Given the description of an element on the screen output the (x, y) to click on. 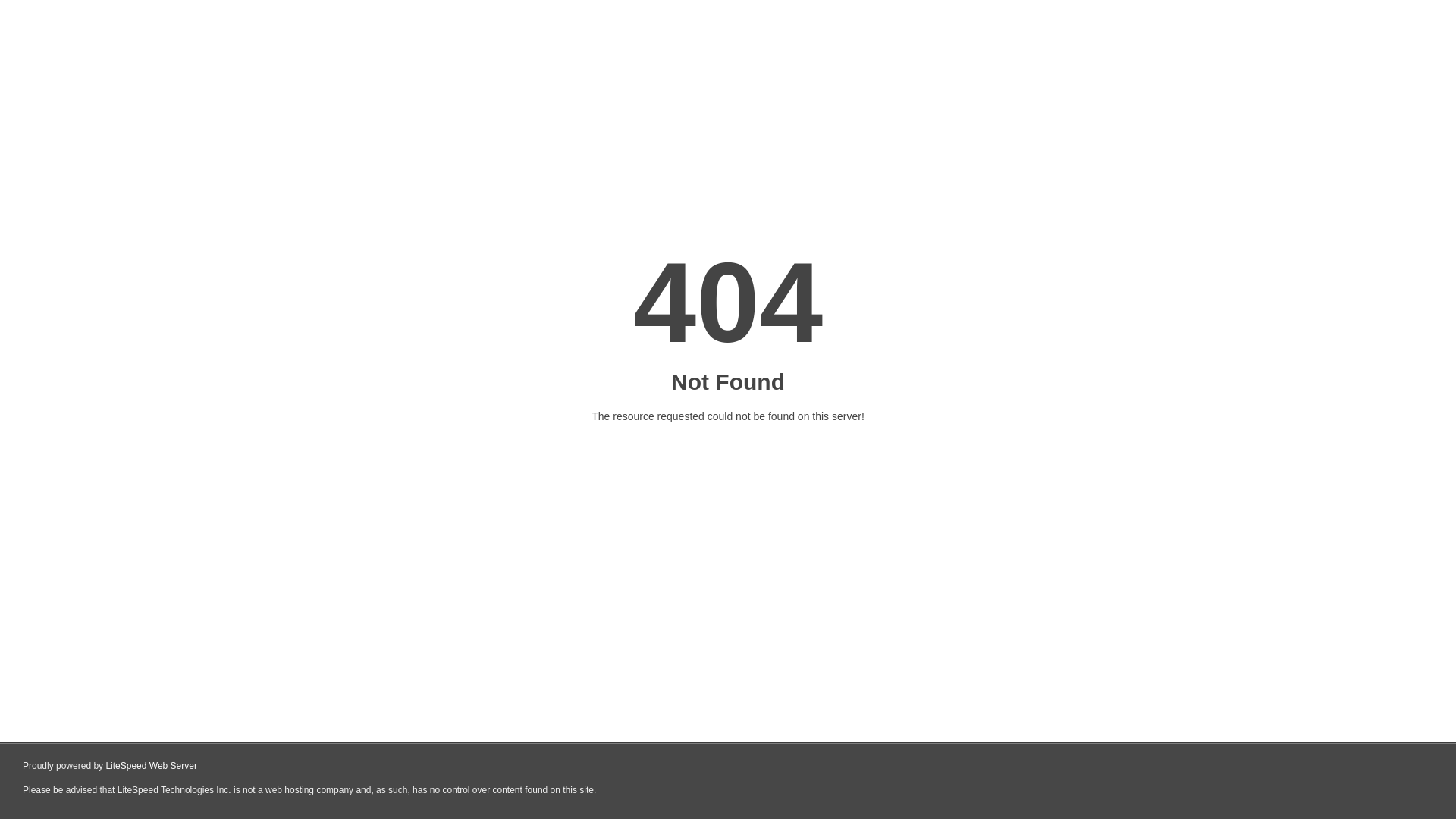
LiteSpeed Web Server Element type: text (151, 765)
